Given the description of an element on the screen output the (x, y) to click on. 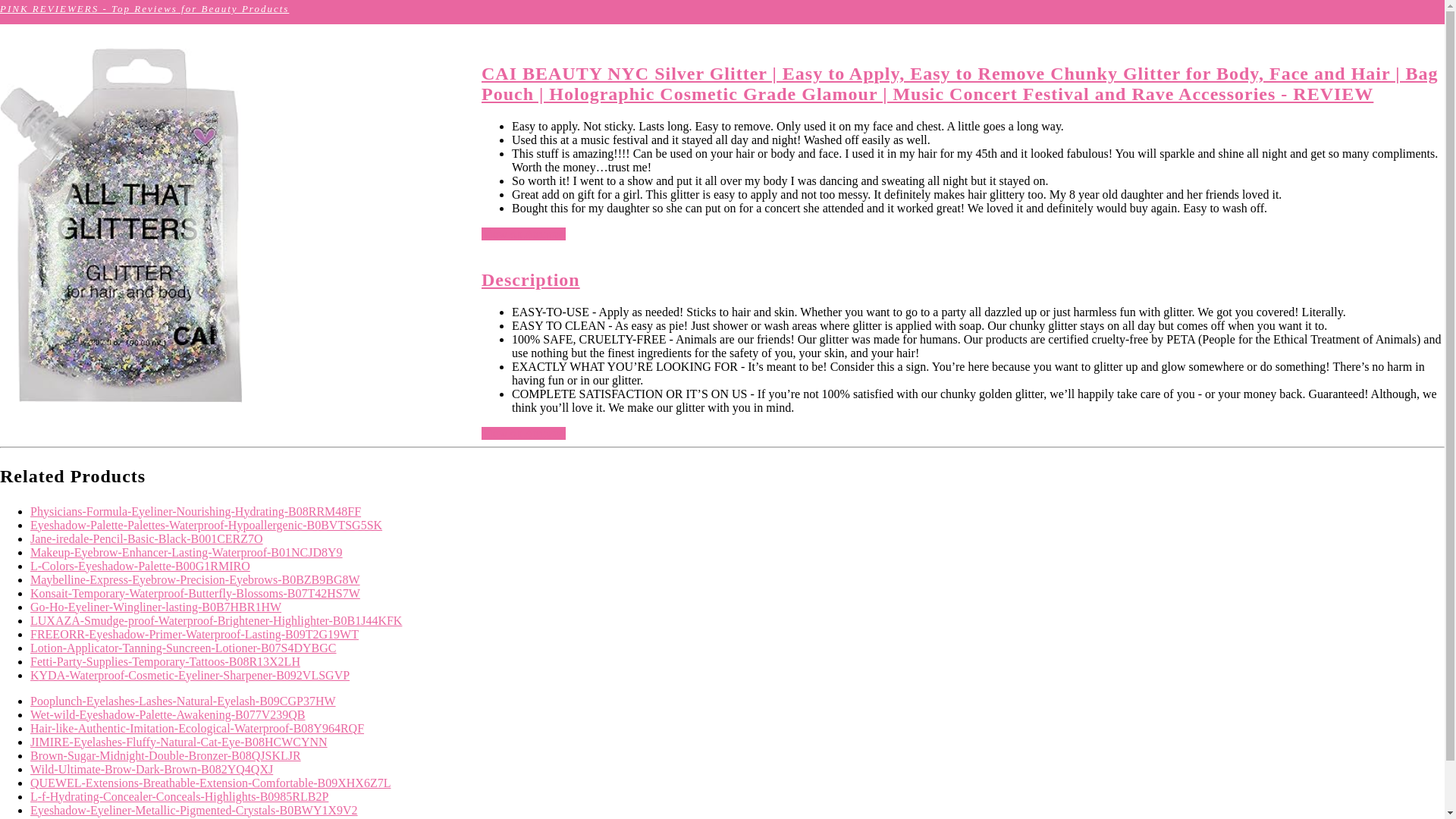
View on Amazon (523, 233)
Go-Ho-Eyeliner-Wingliner-lasting-B0B7HBR1HW (155, 606)
View on Amazon (523, 432)
Pooplunch-Eyelashes-Lashes-Natural-Eyelash-B09CGP37HW (183, 700)
l-f-Hydrating-Concealer-Conceals-Highlights-B0985RLB2P (179, 796)
L-Colors-Eyeshadow-Palette-B00G1RMIRO (140, 565)
JIMIRE-Eyelashes-Fluffy-Natural-Cat-Eye-B08HCWCYNN (178, 741)
Description (530, 279)
PINK REVIEWERS - Top Reviews for Beauty Products (144, 8)
wet-wild-Eyeshadow-Palette-Awakening-B077V239QB (167, 714)
Konsait-Temporary-Waterproof-Butterfly-Blossoms-B07T42HS7W (194, 593)
